Given the description of an element on the screen output the (x, y) to click on. 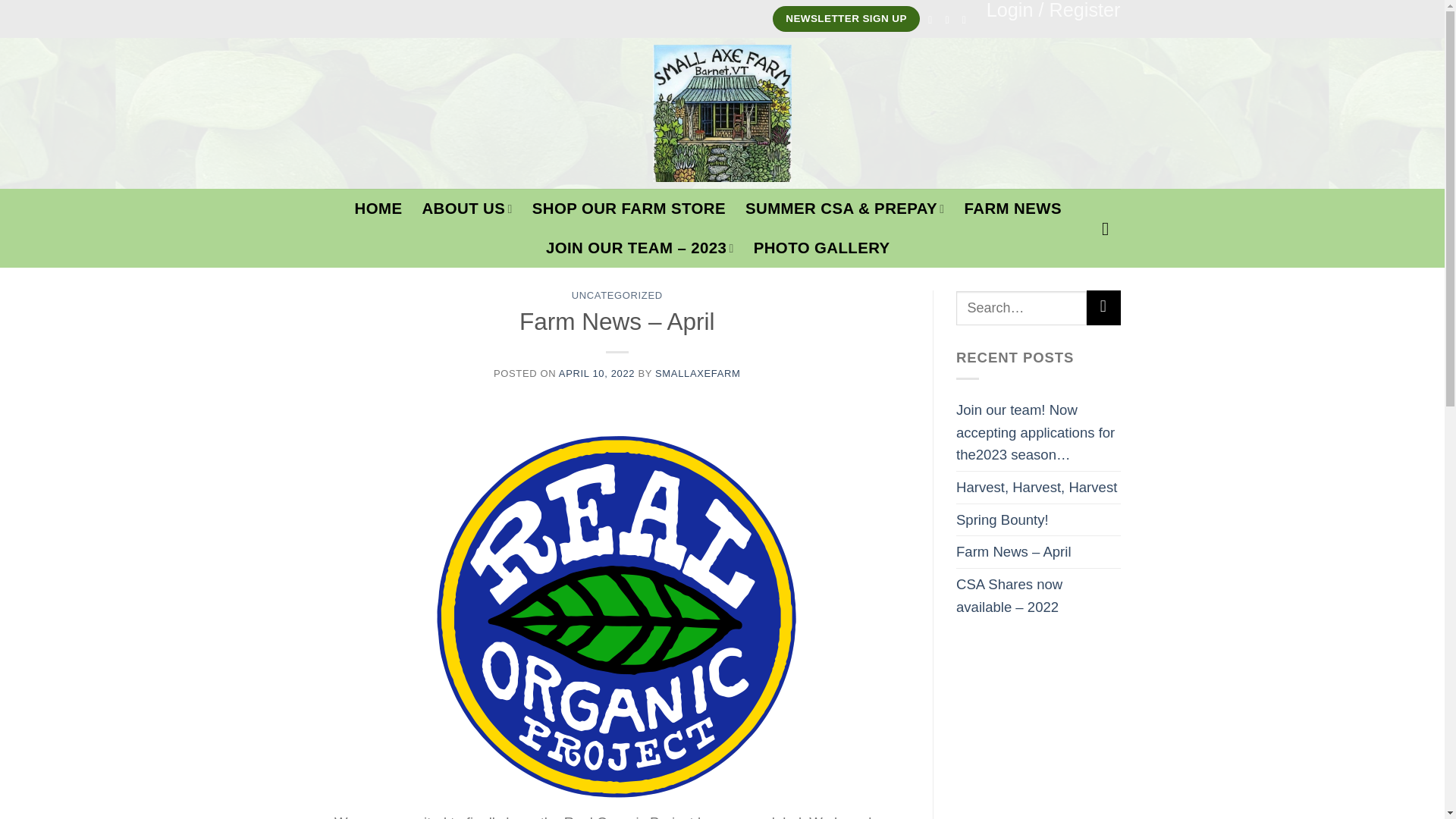
UNCATEGORIZED (617, 295)
SHOP OUR FARM STORE (628, 208)
FARM NEWS (1012, 208)
HOME (379, 208)
PHOTO GALLERY (821, 247)
NEWSLETTER SIGN UP (846, 18)
ABOUT US (467, 208)
SMALLAXEFARM (697, 373)
APRIL 10, 2022 (596, 373)
